Given the description of an element on the screen output the (x, y) to click on. 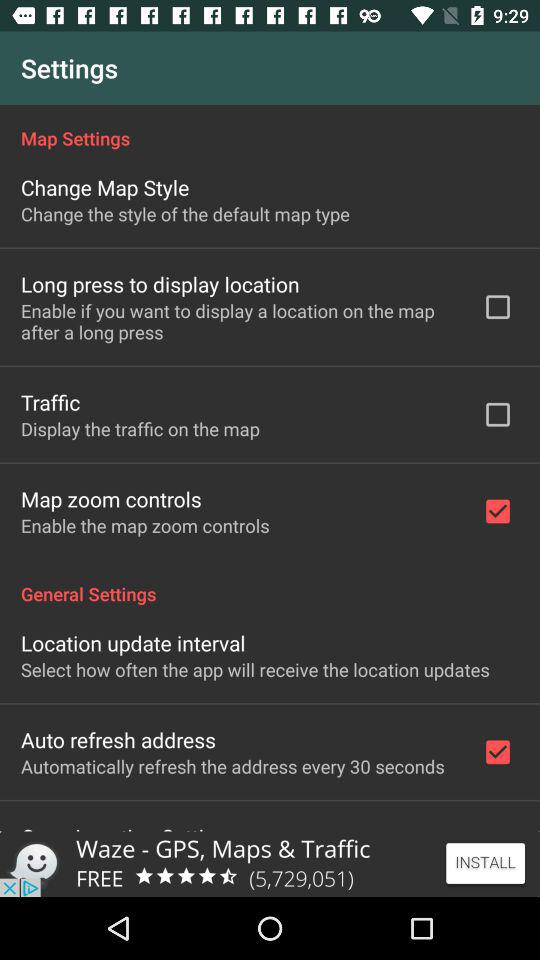
turn off the item below the automatically refresh the item (129, 826)
